Given the description of an element on the screen output the (x, y) to click on. 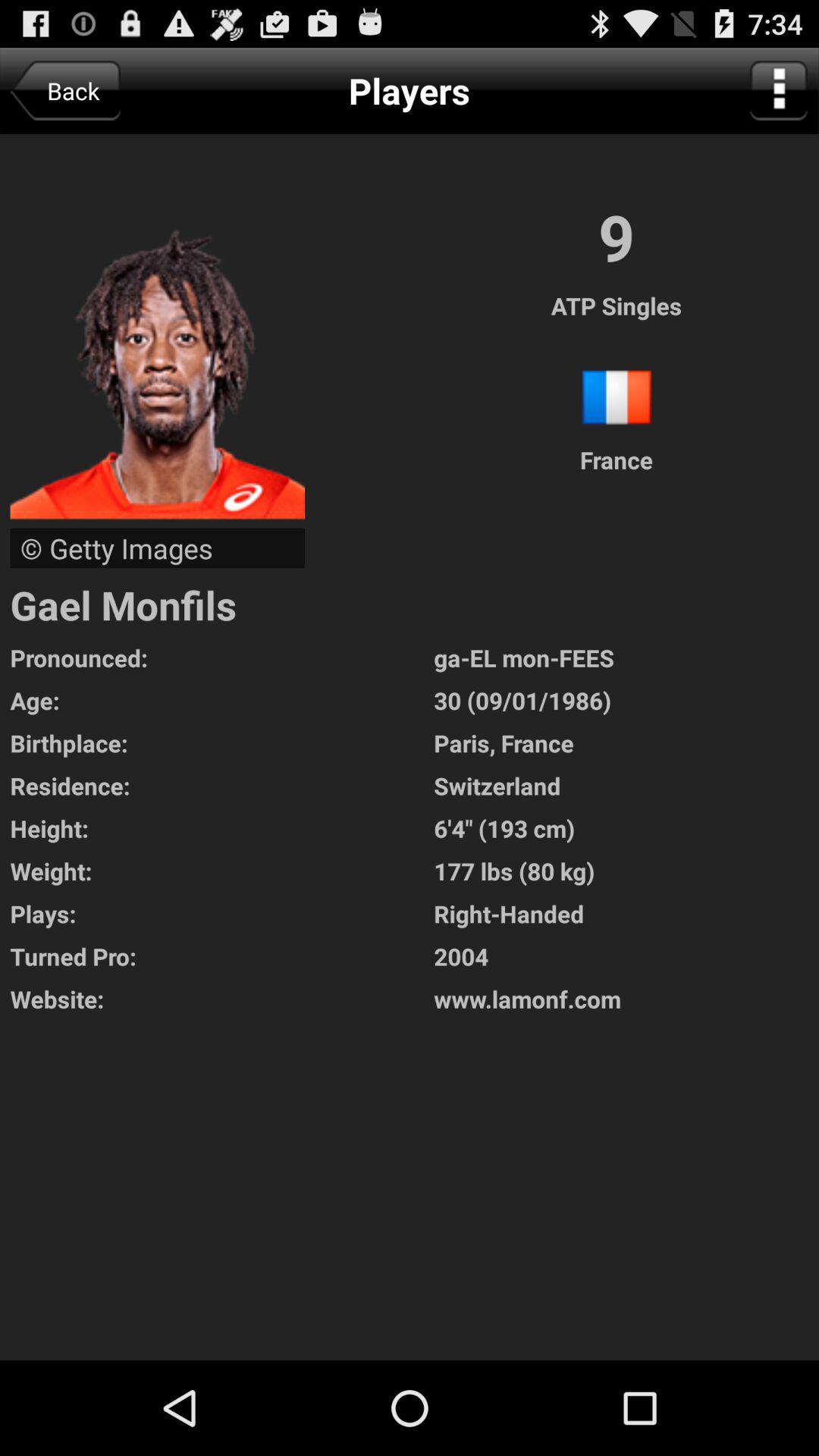
turn on the icon above turned pro: app (626, 913)
